Given the description of an element on the screen output the (x, y) to click on. 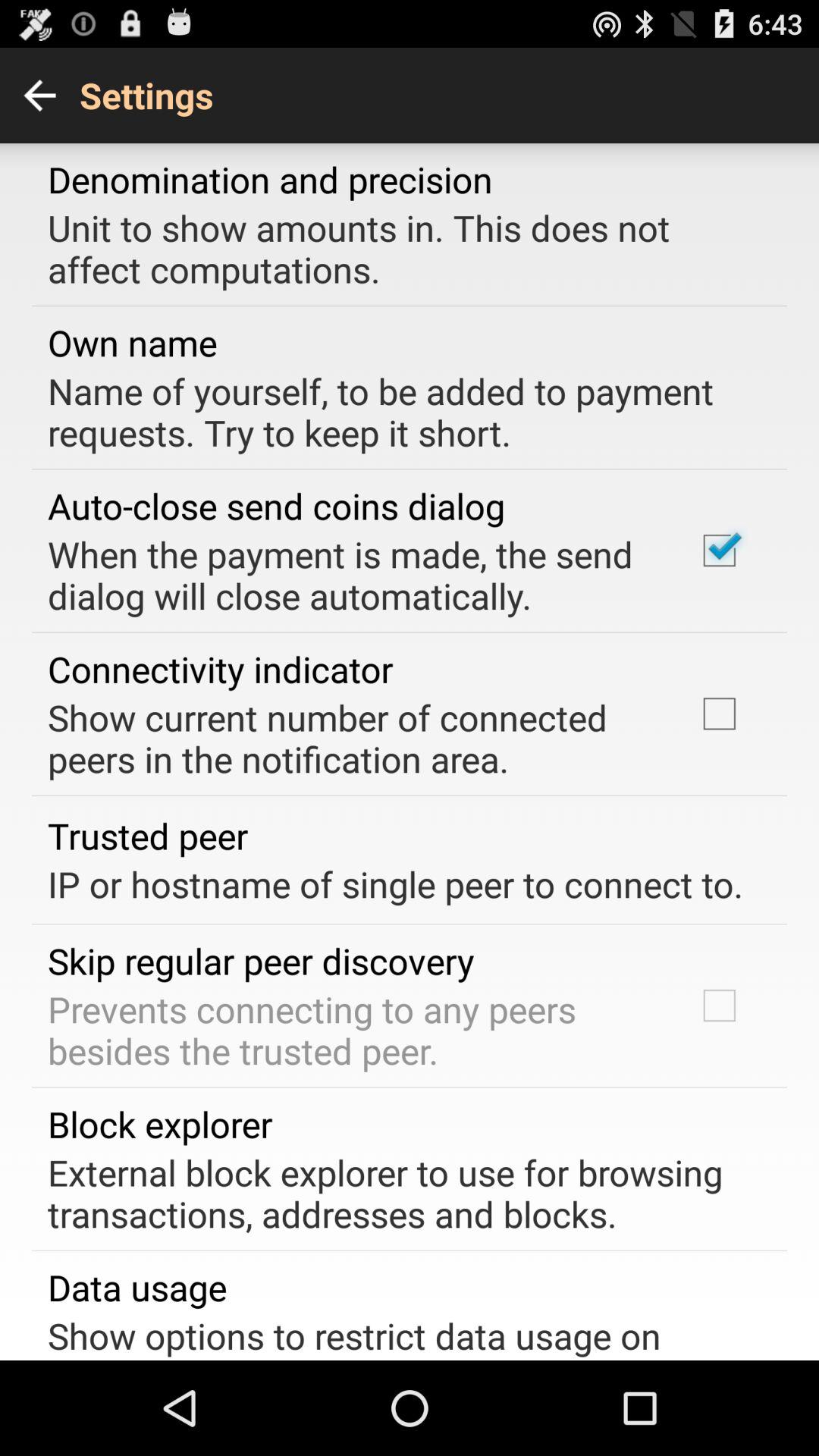
scroll until prevents connecting to item (351, 1029)
